Given the description of an element on the screen output the (x, y) to click on. 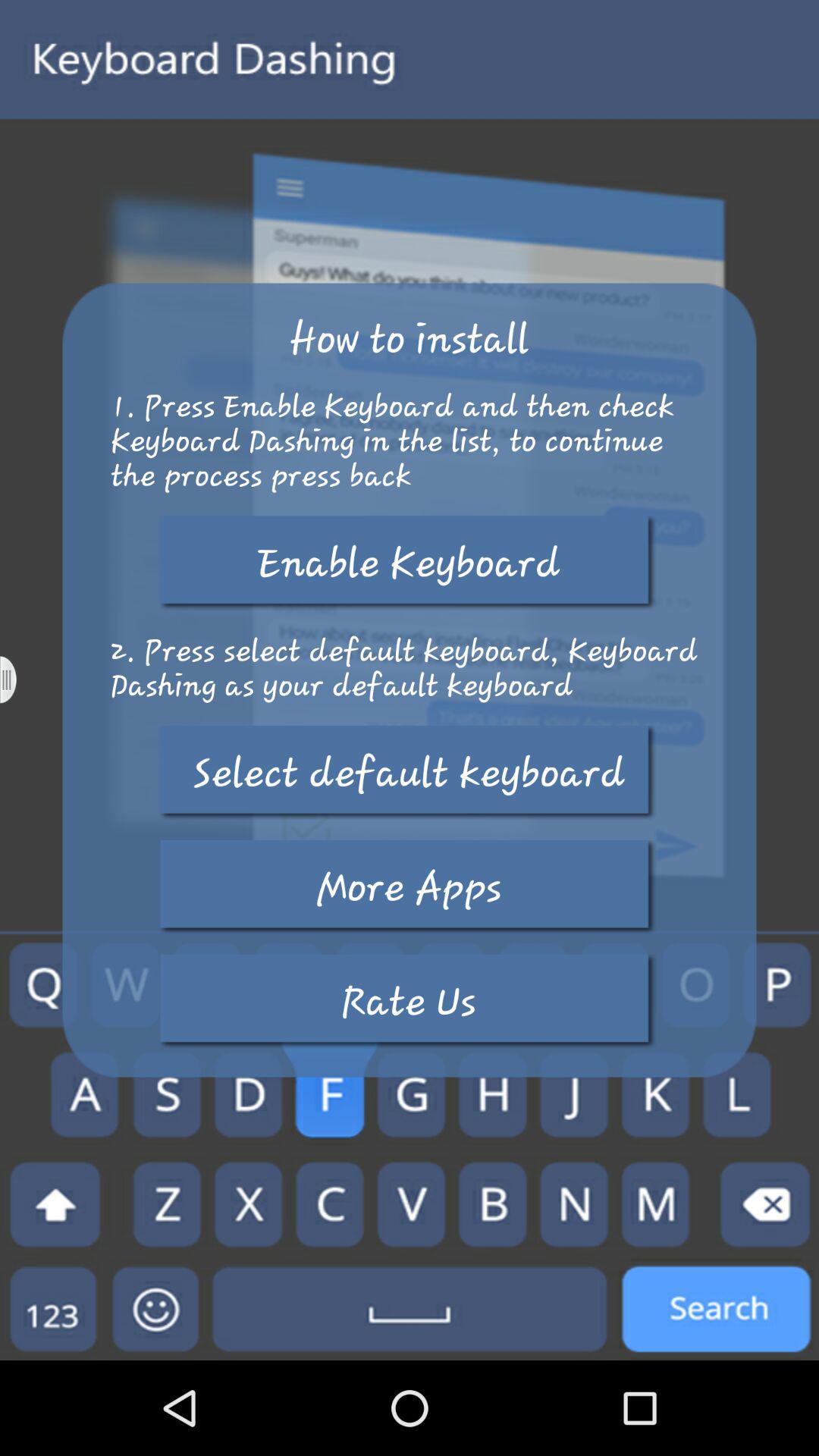
tap the icon next to the 2 press select icon (18, 679)
